Given the description of an element on the screen output the (x, y) to click on. 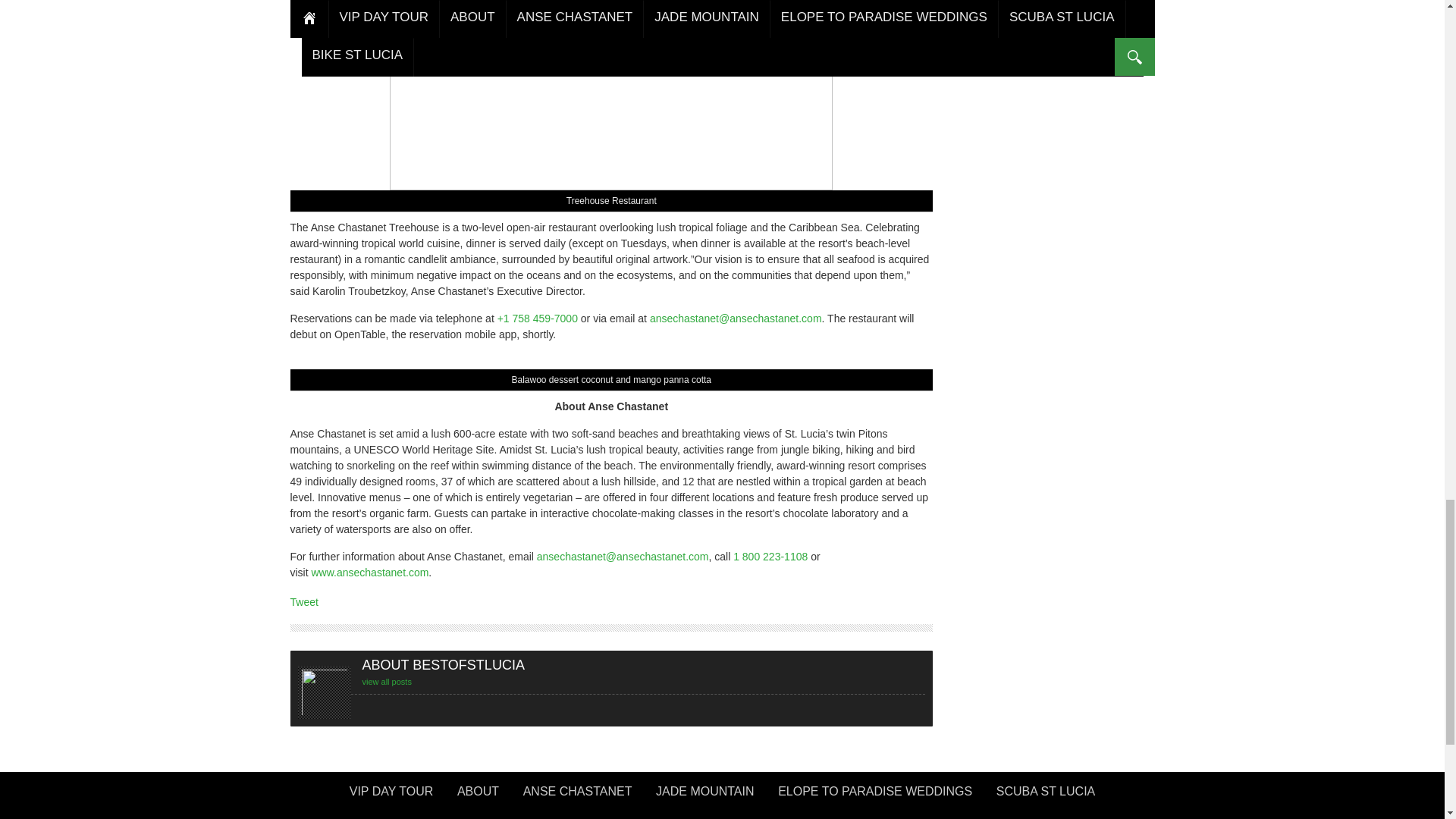
Anse Chastanet Resort St Lucia (577, 795)
ANSE CHASTANET (577, 795)
ABOUT (477, 795)
1 800 223-1108 (770, 556)
ELOPE TO PARADISE WEDDINGS (874, 795)
view all posts (387, 681)
About Best of St. Lucia (477, 795)
VIP DAY TOUR (391, 795)
JADE MOUNTAIN (704, 795)
Tweet (303, 602)
Jade Mountain St Lucia (704, 795)
BIKE ST LUCIA (722, 815)
www.ansechastanet.com (369, 572)
SCUBA ST LUCIA (1045, 795)
